Given the description of an element on the screen output the (x, y) to click on. 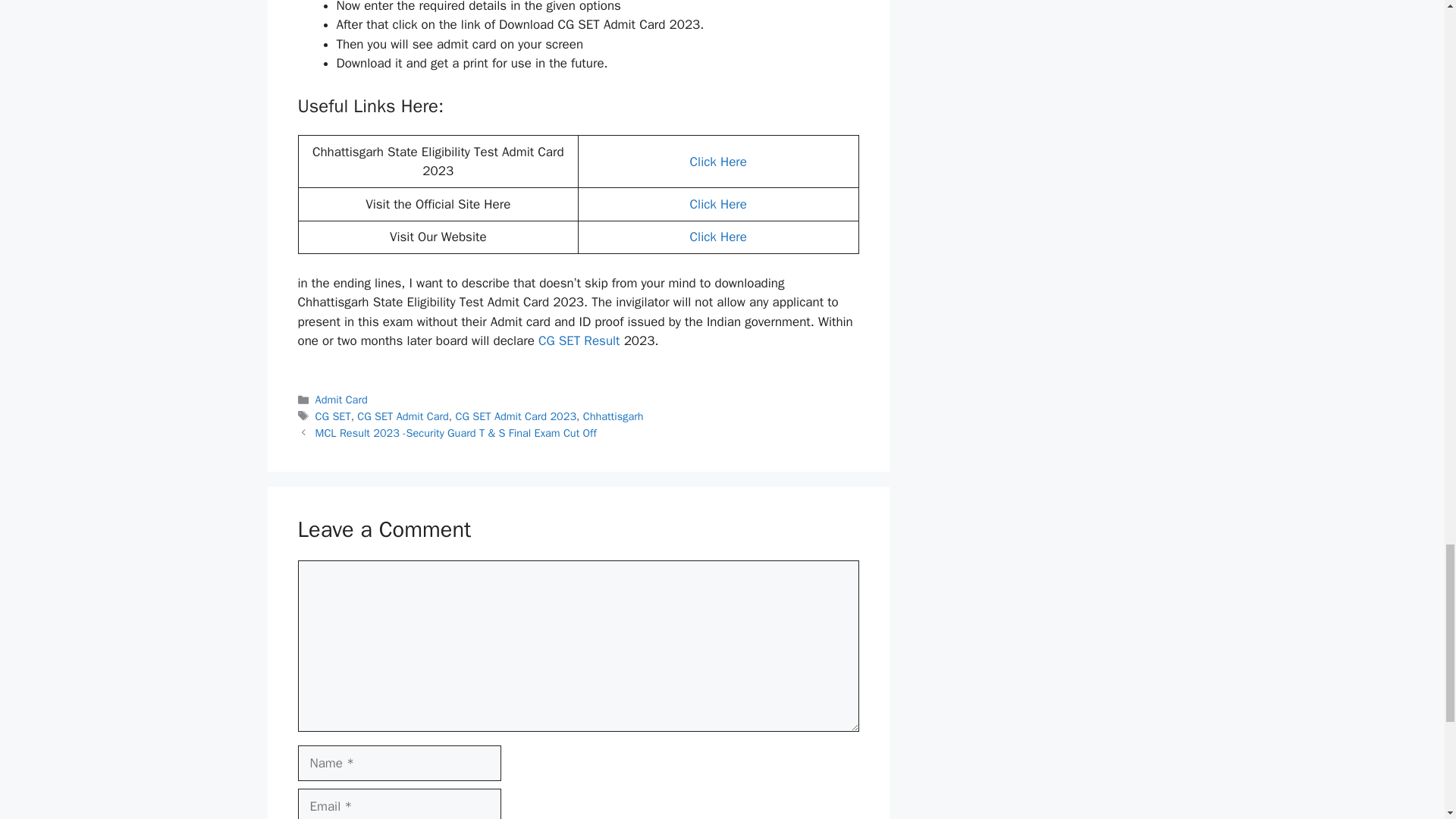
CG SET Admit Card 2023 (515, 416)
CG SET Result (579, 340)
Chhattisgarh (613, 416)
CG SET (332, 416)
Click Here (718, 161)
CG SET Admit Card (402, 416)
Admit Card (341, 399)
Click Here (718, 204)
Click Here (718, 236)
